Given the description of an element on the screen output the (x, y) to click on. 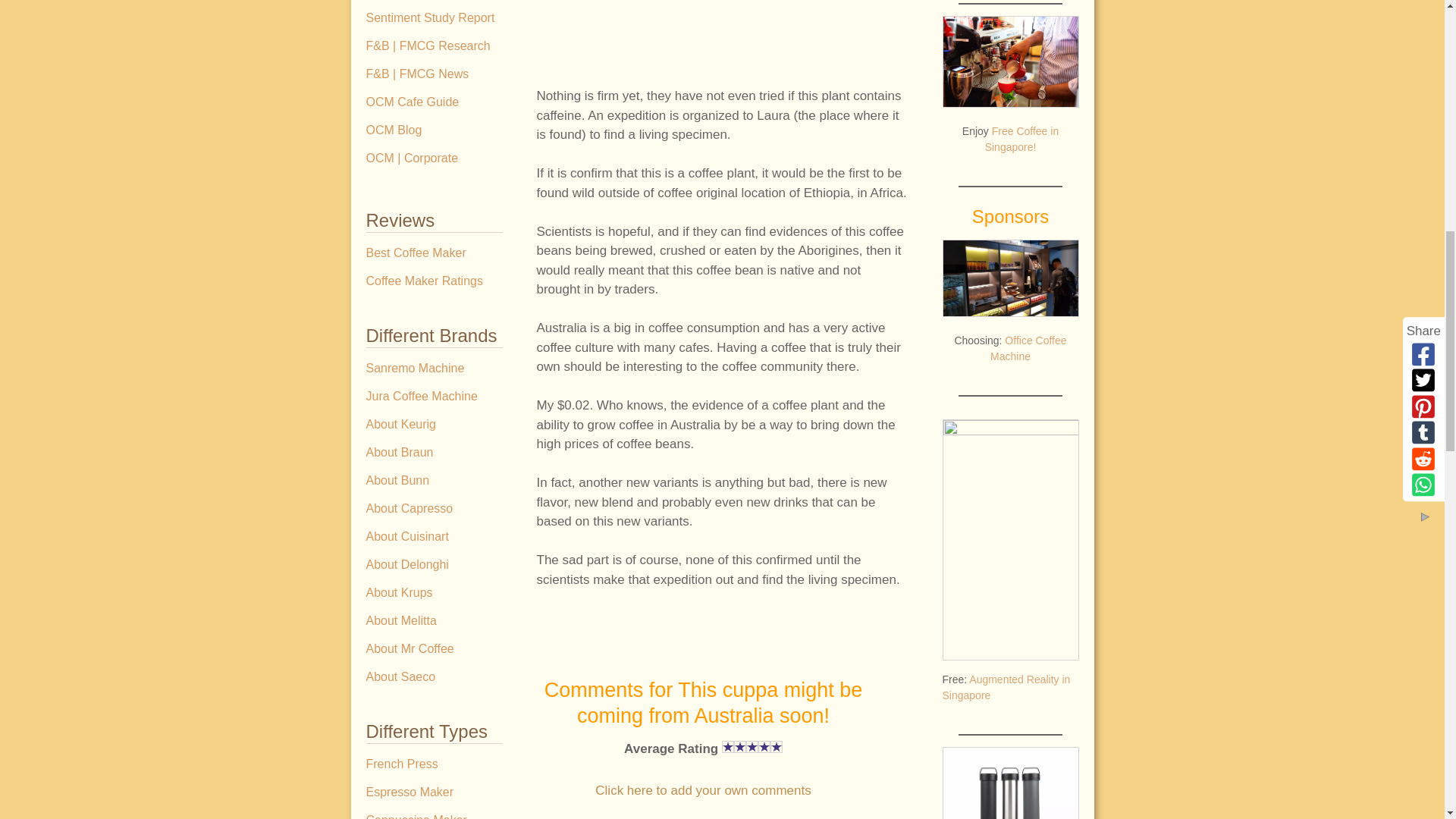
OCM Blog (433, 130)
Sentiment Study Report (433, 17)
Click here to add your own comments (702, 789)
About Braun (433, 452)
Restaurant Marketing (433, 1)
Coffee Maker Ratings (433, 281)
About Bunn (433, 480)
Best Coffee Maker (433, 253)
OCM Cafe Guide (433, 102)
Jura Coffee Machine (433, 396)
About Delonghi (433, 565)
About Capresso (433, 508)
About Cuisinart (433, 536)
About Keurig (433, 424)
Sanremo Machine (433, 368)
